Given the description of an element on the screen output the (x, y) to click on. 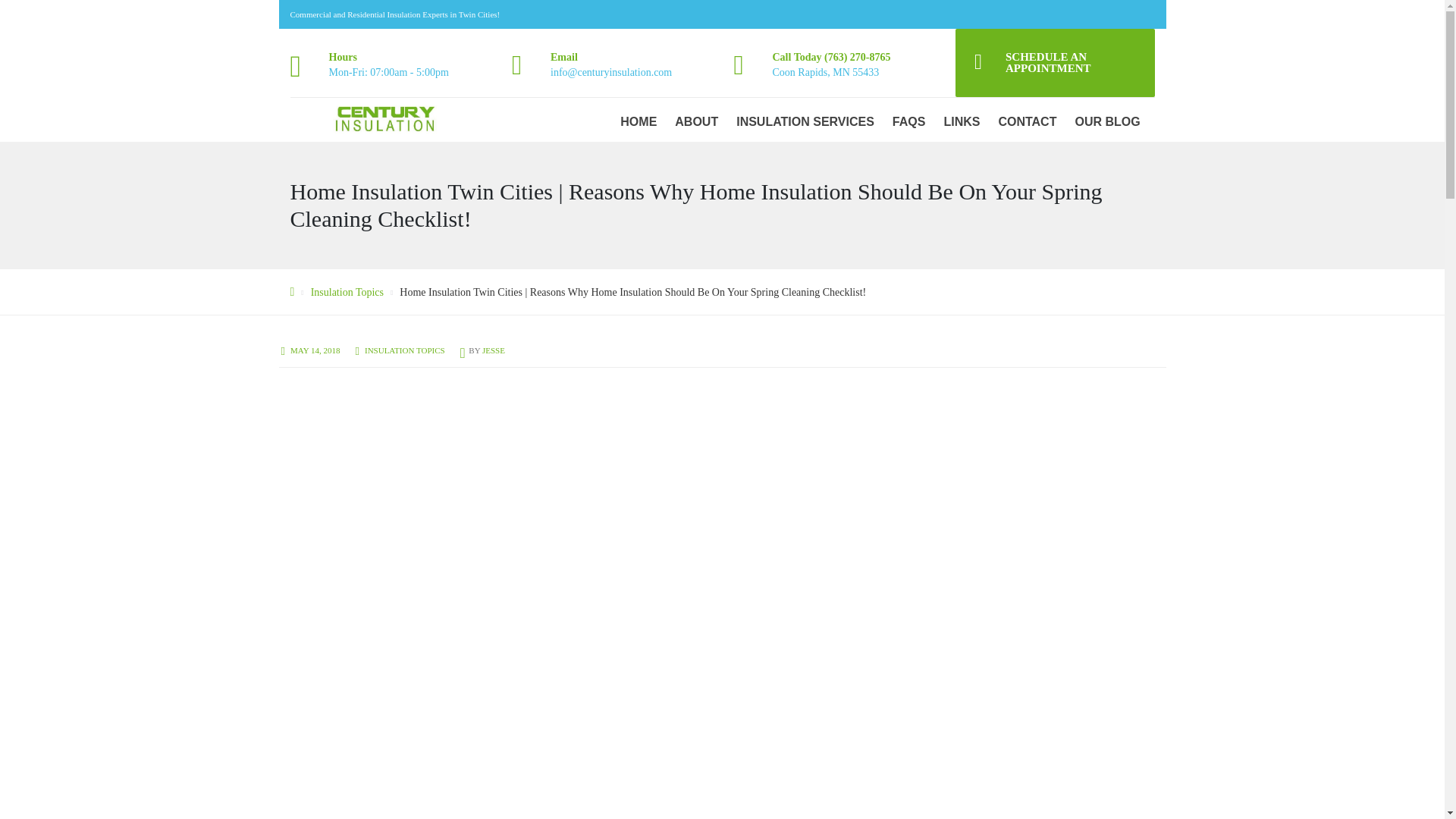
SCHEDULE AN APPOINTMENT (1054, 62)
INSULATION TOPICS (405, 349)
HOME (638, 121)
View all posts by Jesse (493, 349)
CONTACT (1026, 121)
FAQS (908, 121)
LINKS (961, 121)
INSULATION SERVICES (804, 121)
Email (564, 57)
JESSE (493, 349)
